Given the description of an element on the screen output the (x, y) to click on. 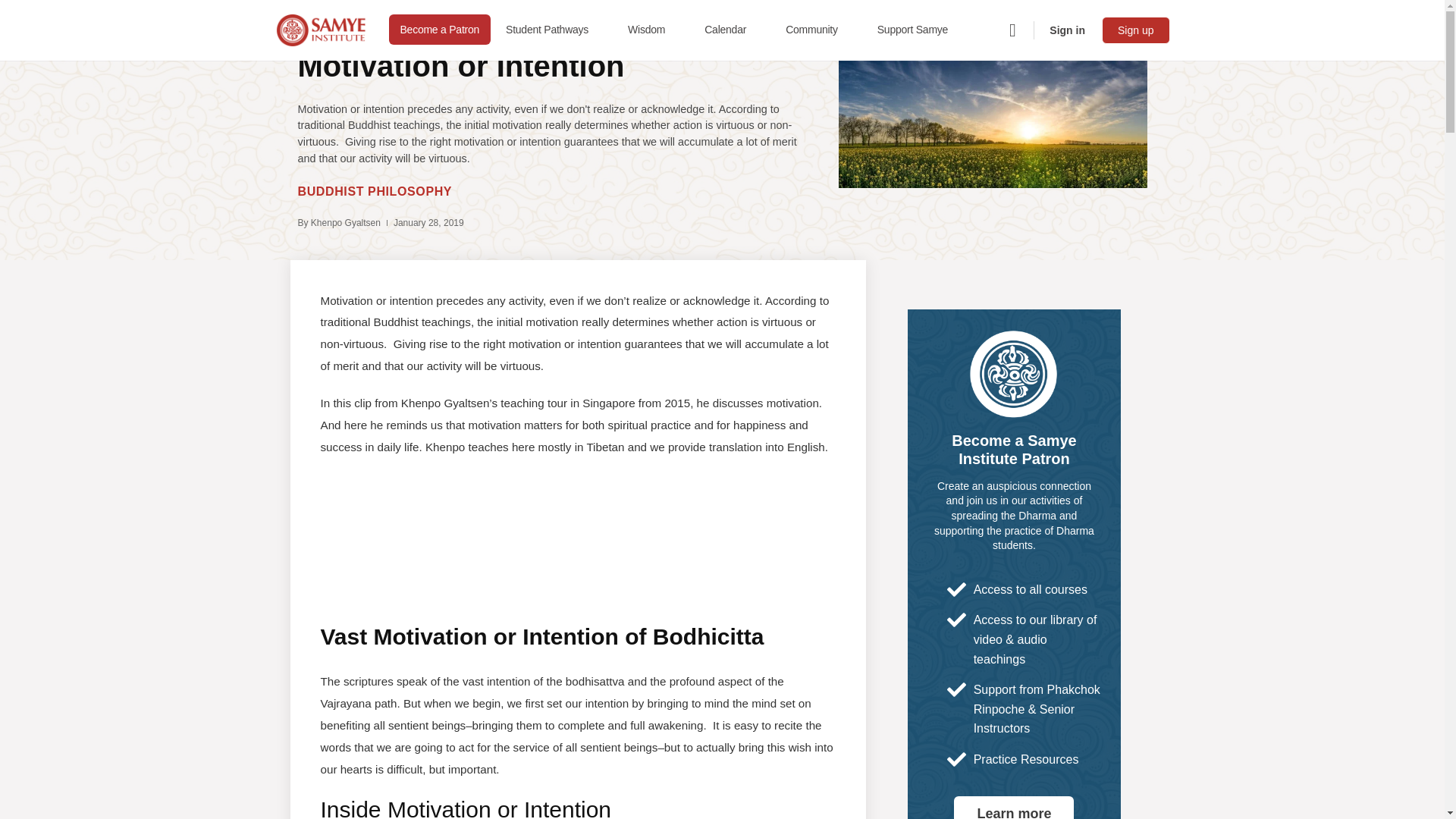
Student Pathways (552, 30)
Prayers (428, 90)
Support Samye (918, 30)
Become a Patron (440, 30)
Calendar (732, 30)
Community (818, 30)
Wisdom (652, 30)
